Given the description of an element on the screen output the (x, y) to click on. 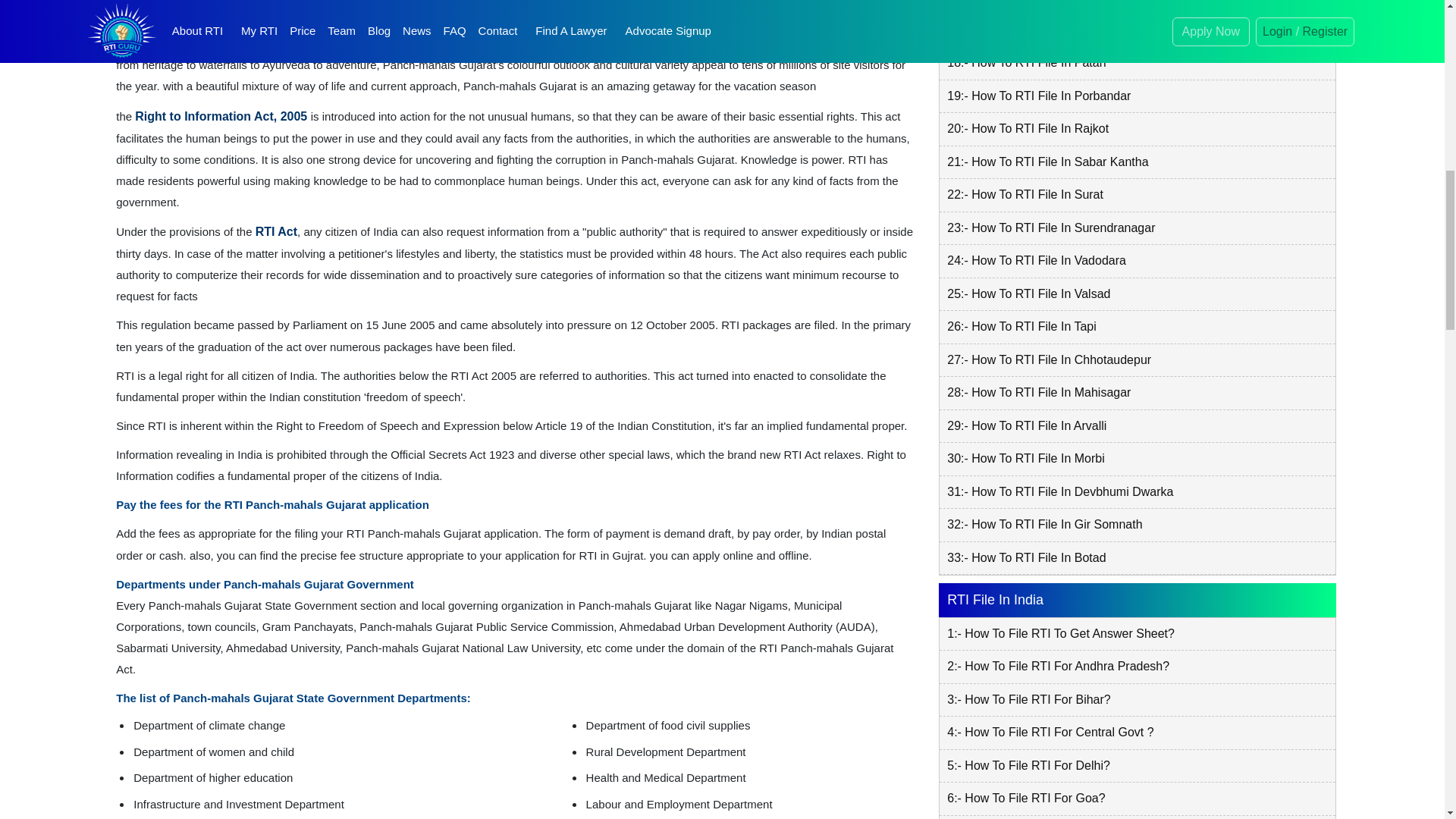
RTI Act (276, 231)
Right to Information Act, 2005 (222, 115)
